Given the description of an element on the screen output the (x, y) to click on. 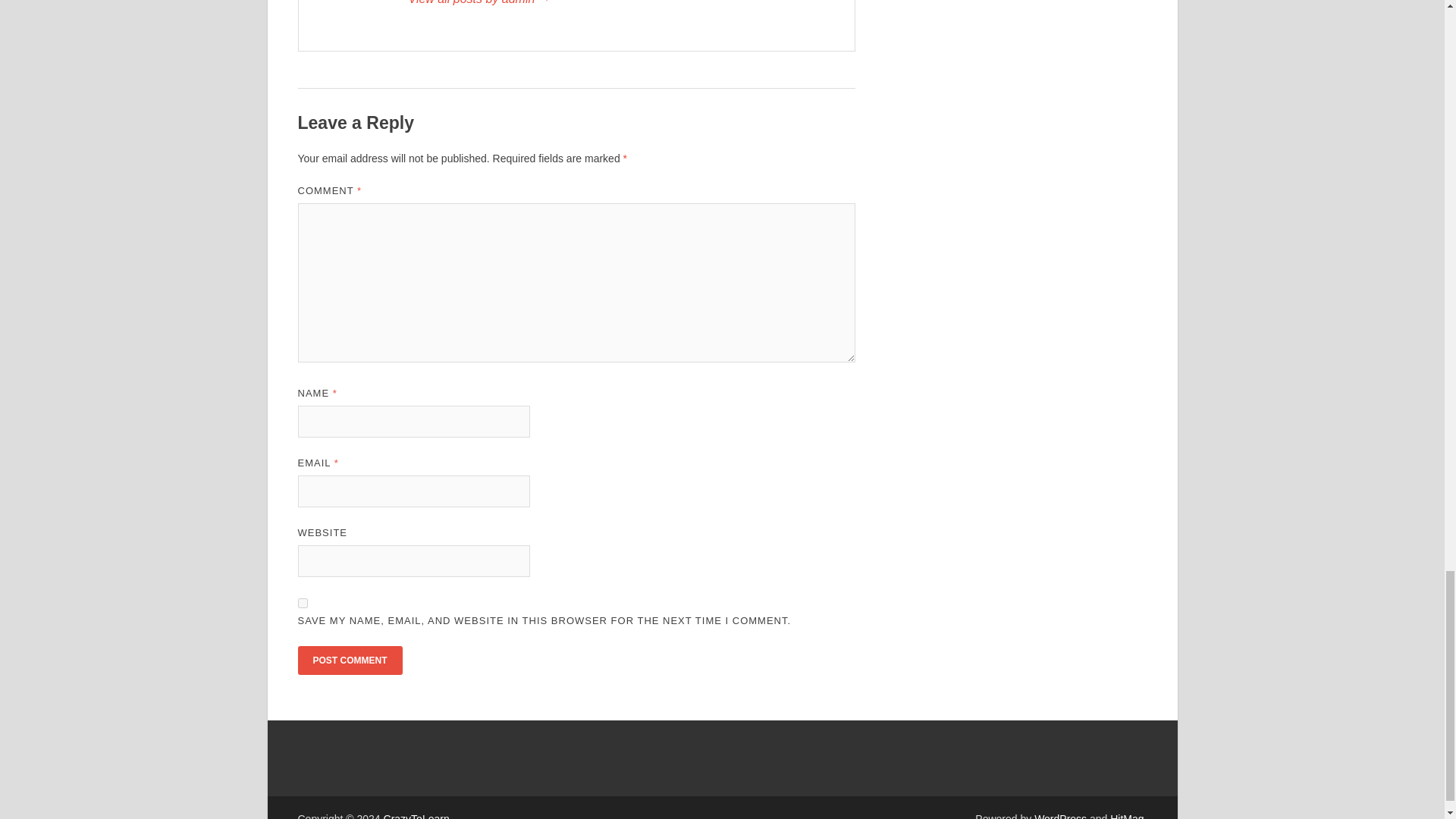
Post Comment (349, 660)
admin (622, 4)
yes (302, 603)
